Given the description of an element on the screen output the (x, y) to click on. 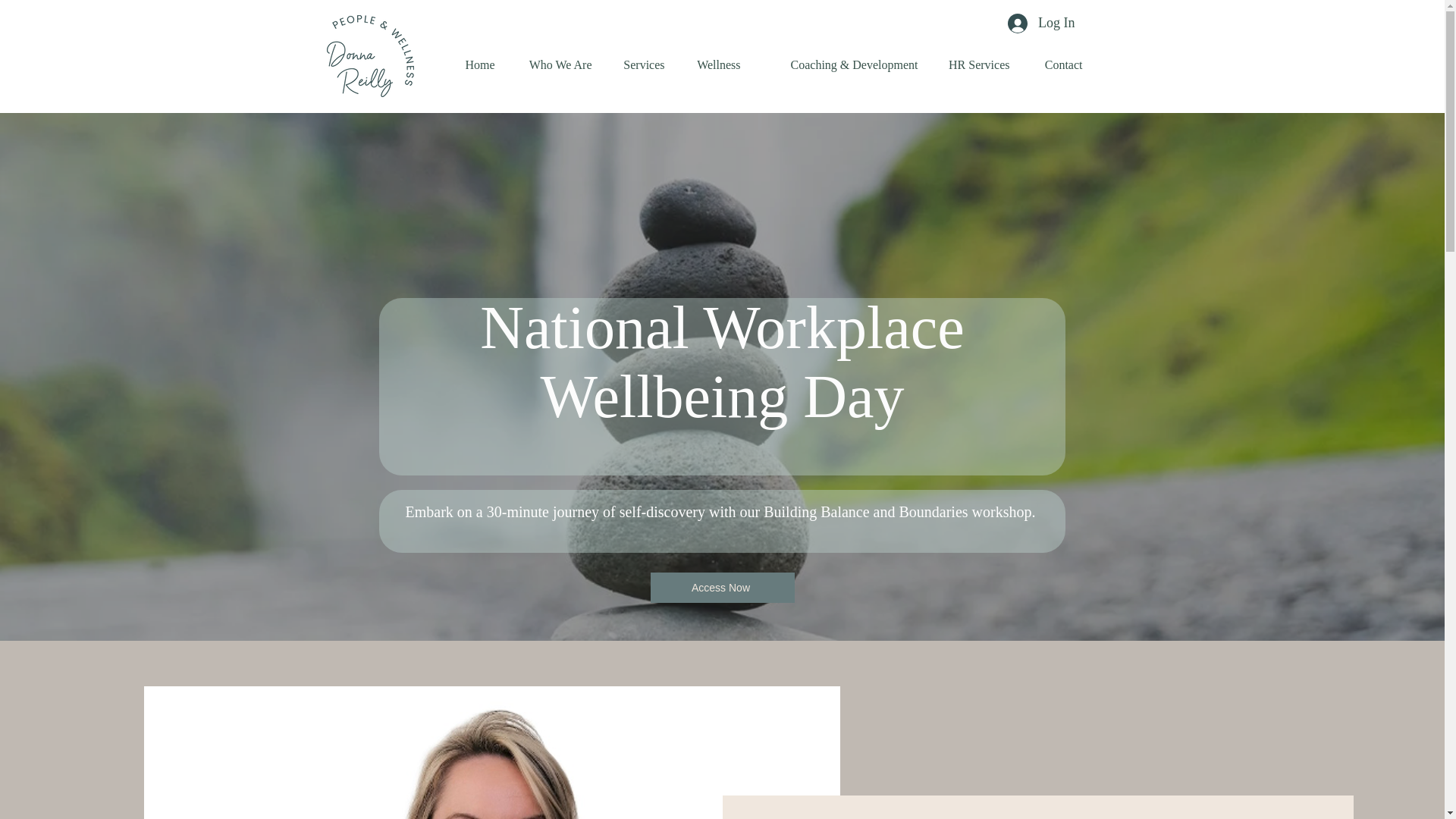
Log In (1041, 23)
Access Now (722, 587)
Services (640, 64)
Contact (1056, 64)
HR Services (976, 64)
Who We Are (555, 64)
Home (475, 64)
